Given the description of an element on the screen output the (x, y) to click on. 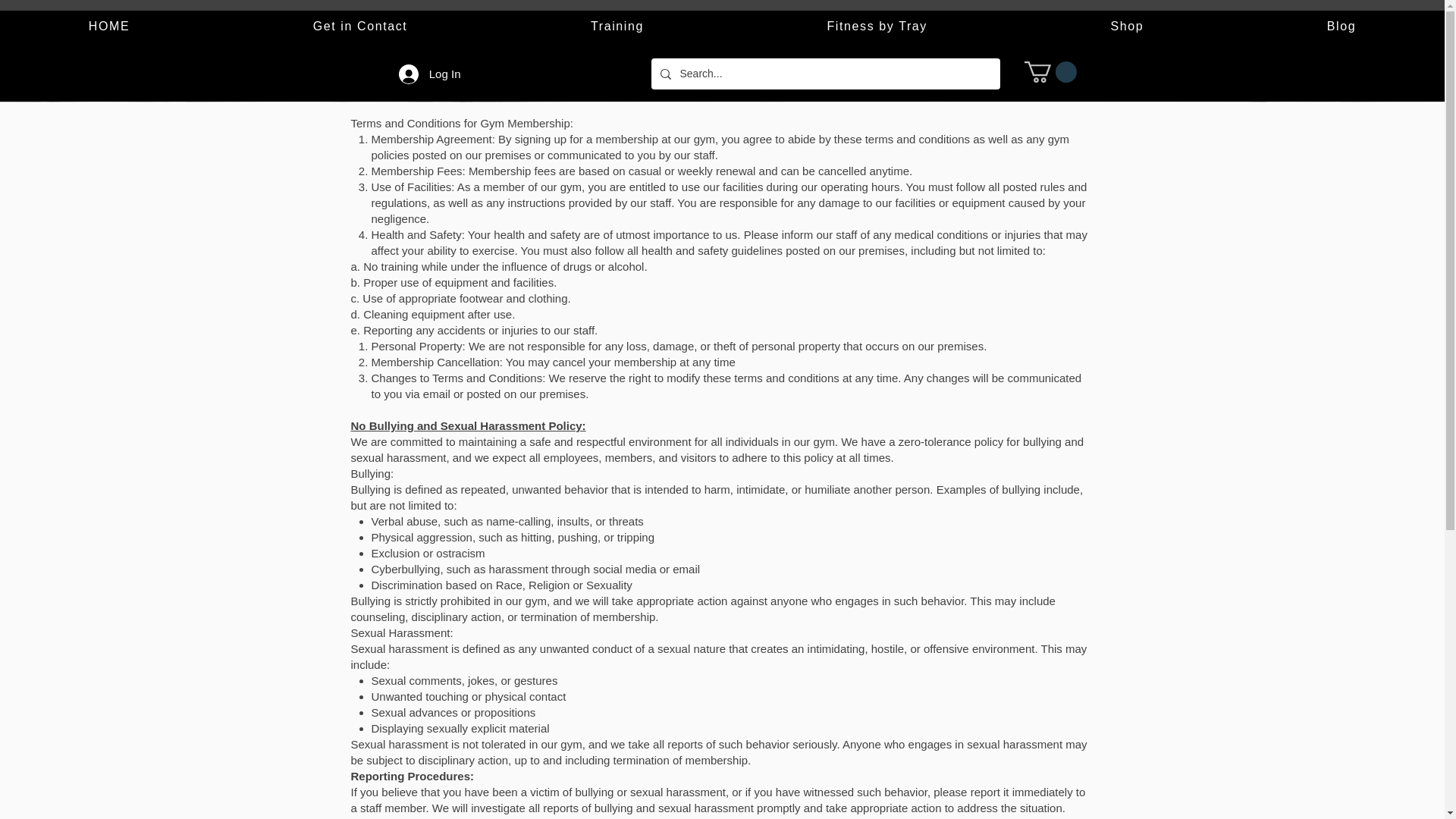
HOME (109, 26)
Fitness by Tray (877, 26)
Get in Contact (360, 26)
Training (617, 26)
Shop (1126, 26)
Log In (429, 72)
